Given the description of an element on the screen output the (x, y) to click on. 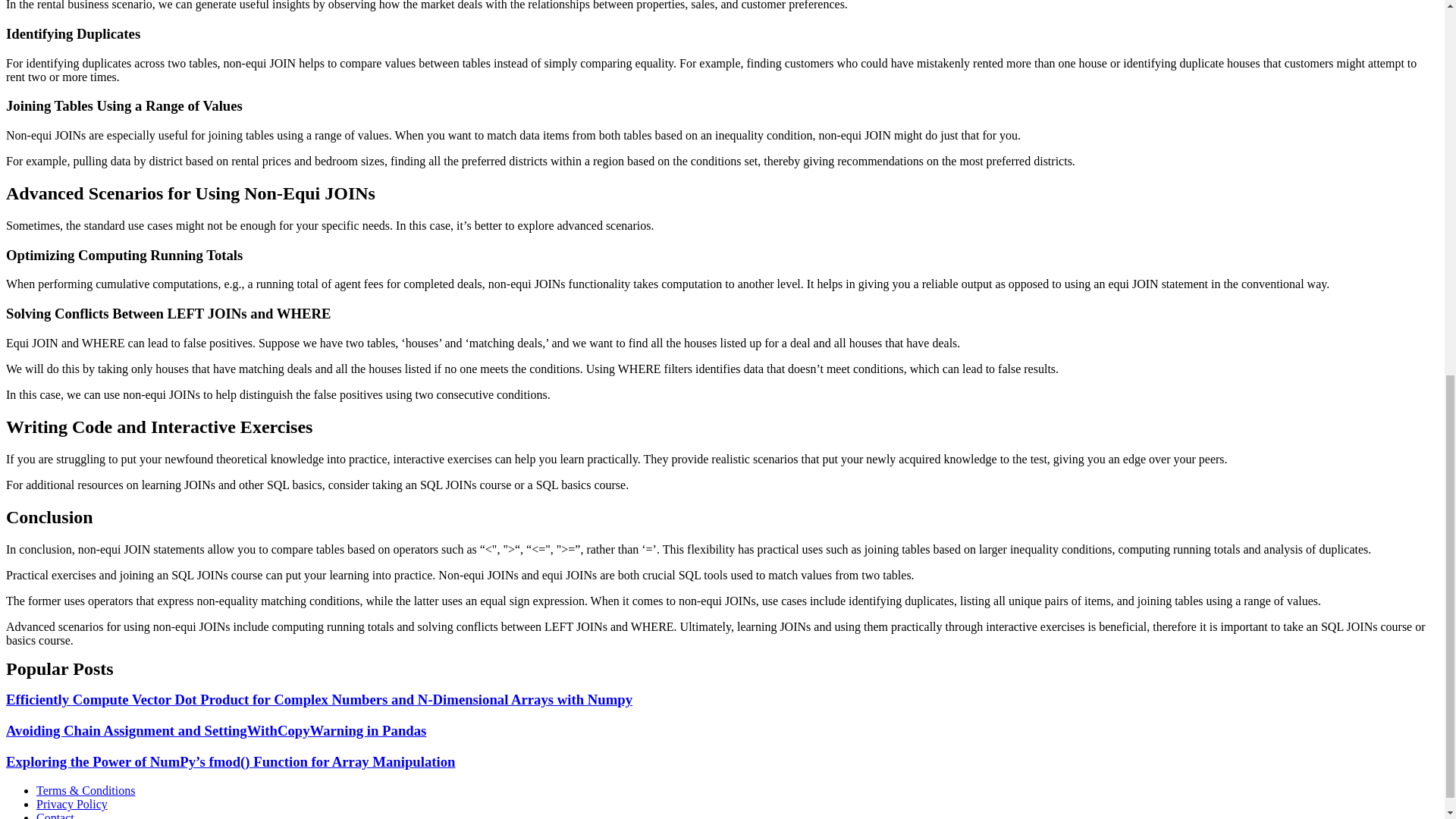
Privacy Policy (71, 803)
